Given the description of an element on the screen output the (x, y) to click on. 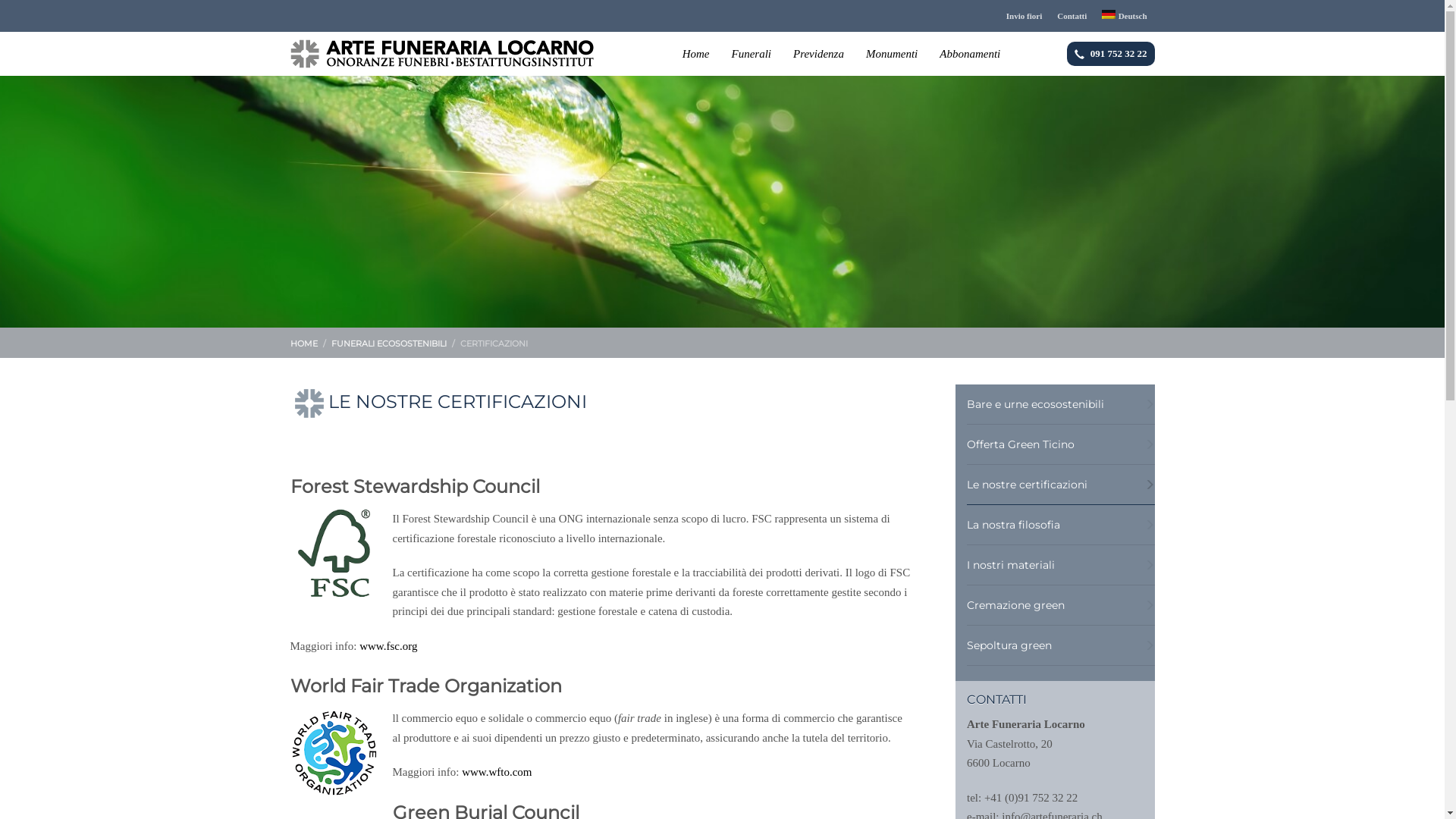
www.wfto.com Element type: text (496, 771)
www.fsc.org Element type: text (388, 646)
Home Element type: text (695, 53)
Previdenza Element type: text (818, 53)
Abbonamenti Element type: text (969, 53)
Contatti Element type: text (1071, 15)
091 752 32 22 Element type: text (1110, 53)
Funerali Element type: text (750, 53)
Offerta Green Ticino Element type: text (1060, 444)
FUNERALI ECOSOSTENIBILI Element type: text (387, 343)
I nostri materiali Element type: text (1060, 565)
HOME Element type: text (302, 343)
Cremazione green Element type: text (1060, 605)
Bare e urne ecosostenibili Element type: text (1060, 404)
Sepoltura green Element type: text (1060, 645)
La nostra filosofia Element type: text (1060, 525)
Invio fiori Element type: text (1023, 15)
Le nostre certificazioni Element type: text (1060, 484)
Monumenti Element type: text (891, 53)
Deutsch Element type: text (1123, 15)
